Given the description of an element on the screen output the (x, y) to click on. 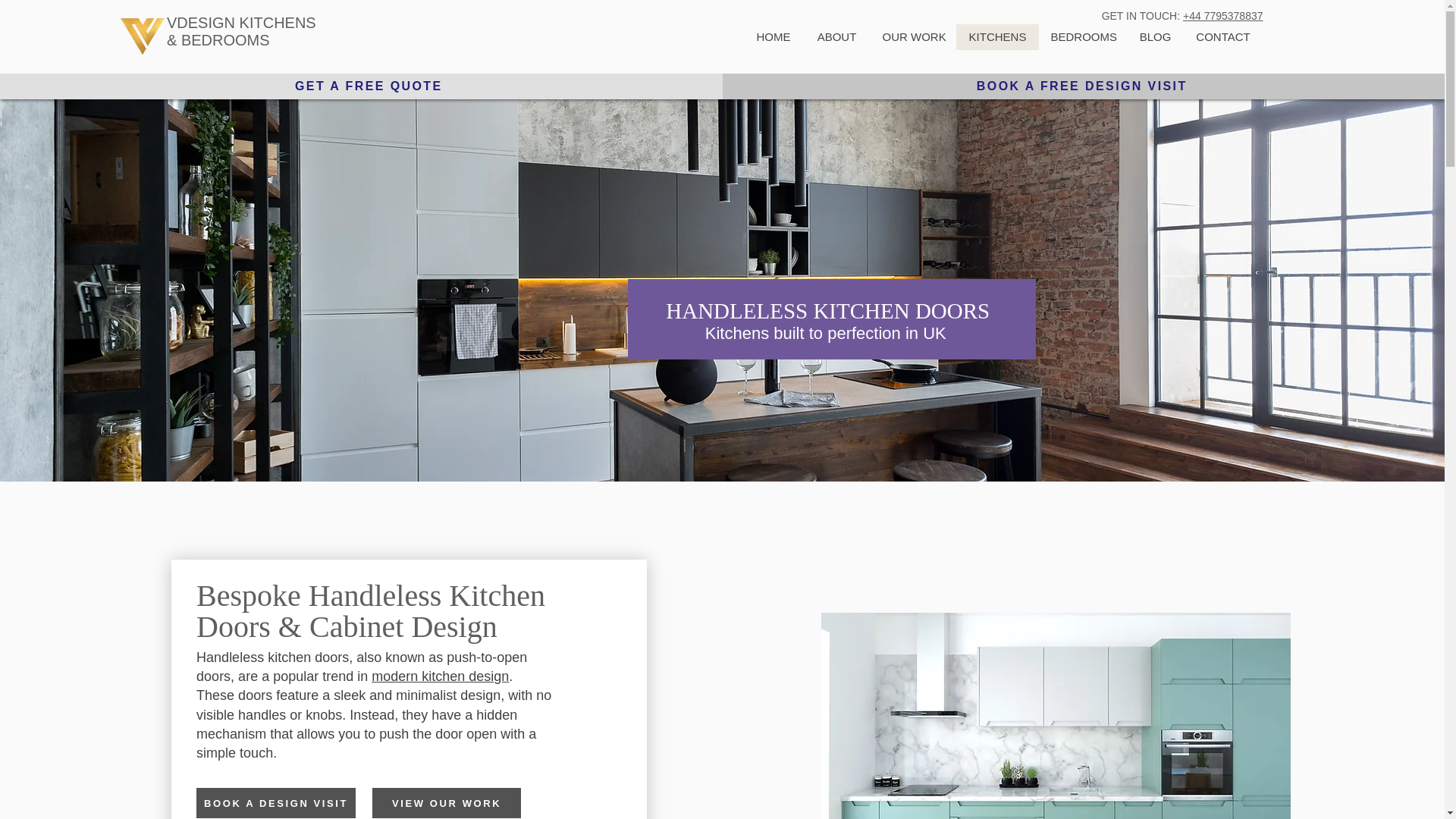
OUR WORK (913, 36)
BEDROOMS (224, 39)
BOOK A FREE DESIGN VISIT (1081, 85)
HOME (773, 36)
modern kitchen design (439, 676)
CONTACT (1222, 36)
VIEW OUR WORK (446, 802)
VDESIGN  (203, 22)
ABOUT (835, 36)
GET A FREE QUOTE (368, 85)
BLOG (1154, 36)
BEDROOMS (1082, 36)
design visit.jpg (1055, 715)
BOOK A DESIGN VISIT (275, 802)
KITCHENS (996, 36)
